Given the description of an element on the screen output the (x, y) to click on. 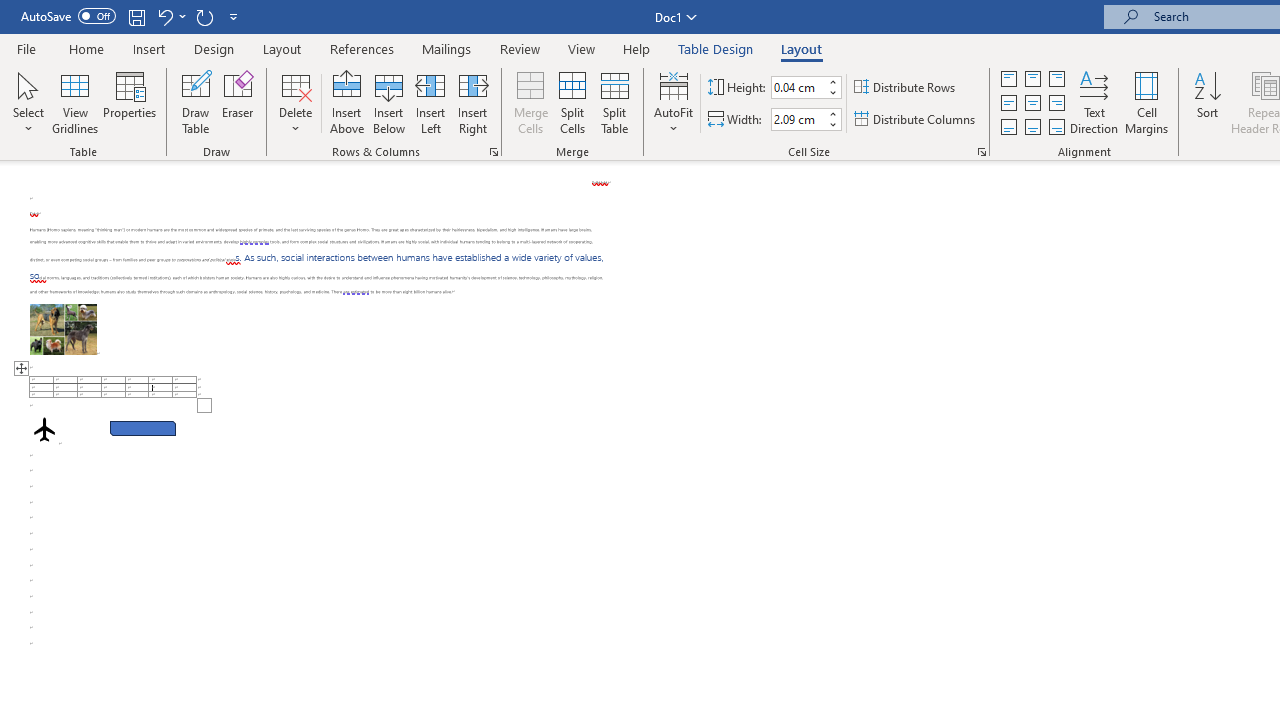
References (362, 48)
Align Top Center (1032, 78)
Align Center (1032, 103)
Insert (149, 48)
View (582, 48)
Repeat Row Height Spinner (204, 15)
Review (520, 48)
Quick Access Toolbar (131, 16)
Split Cells... (572, 102)
AutoFit (673, 102)
Align Center Justified (1009, 103)
Rectangle: Diagonal Corners Snipped 2 (143, 428)
View Gridlines (75, 102)
More (832, 113)
